Given the description of an element on the screen output the (x, y) to click on. 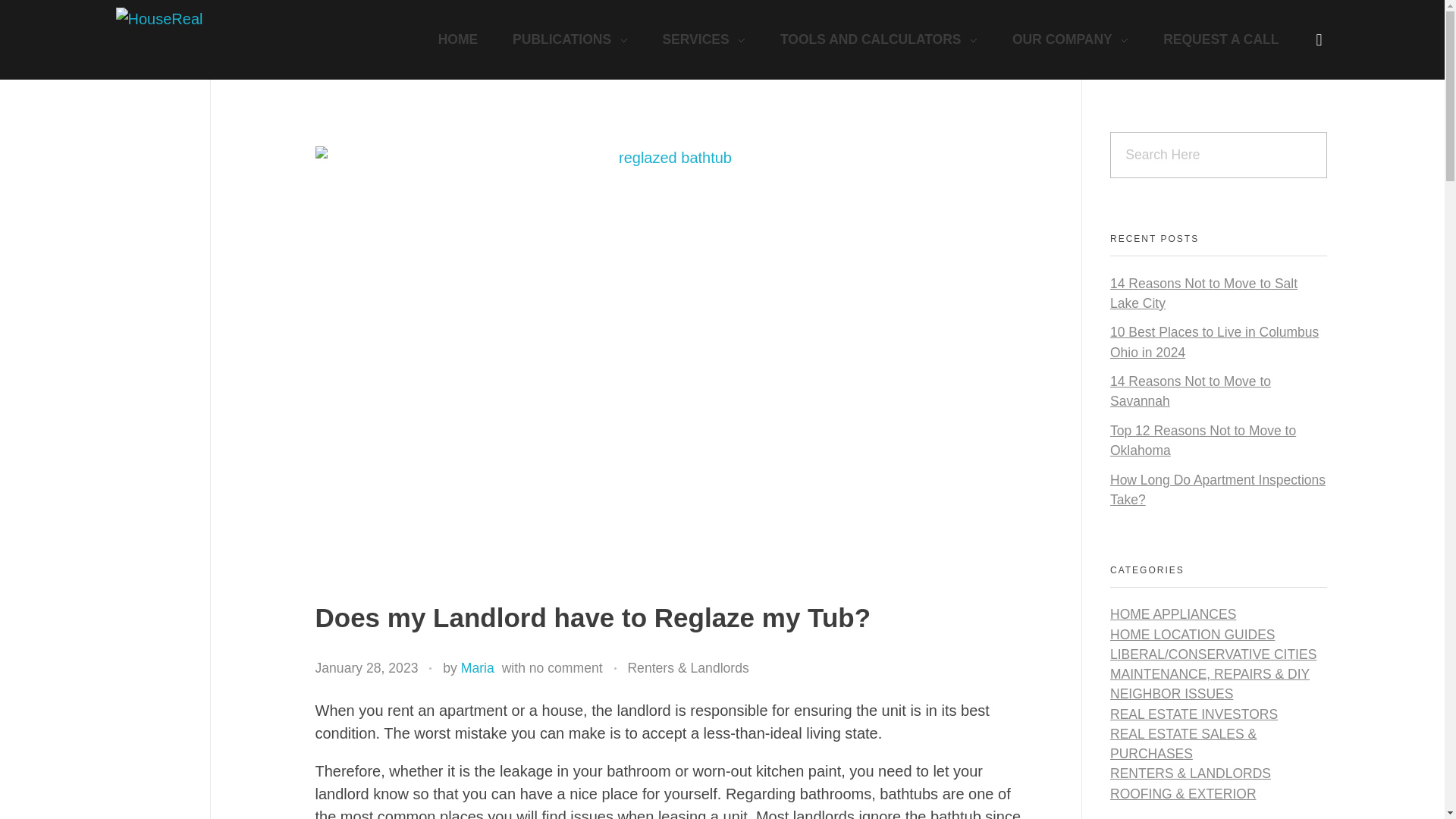
OUR COMPANY (1069, 39)
View all posts by Maria (478, 667)
TOOLS AND CALCULATORS (878, 39)
SERVICES (703, 39)
Maria (478, 667)
REQUEST A CALL (1211, 39)
PUBLICATIONS (570, 39)
